Given the description of an element on the screen output the (x, y) to click on. 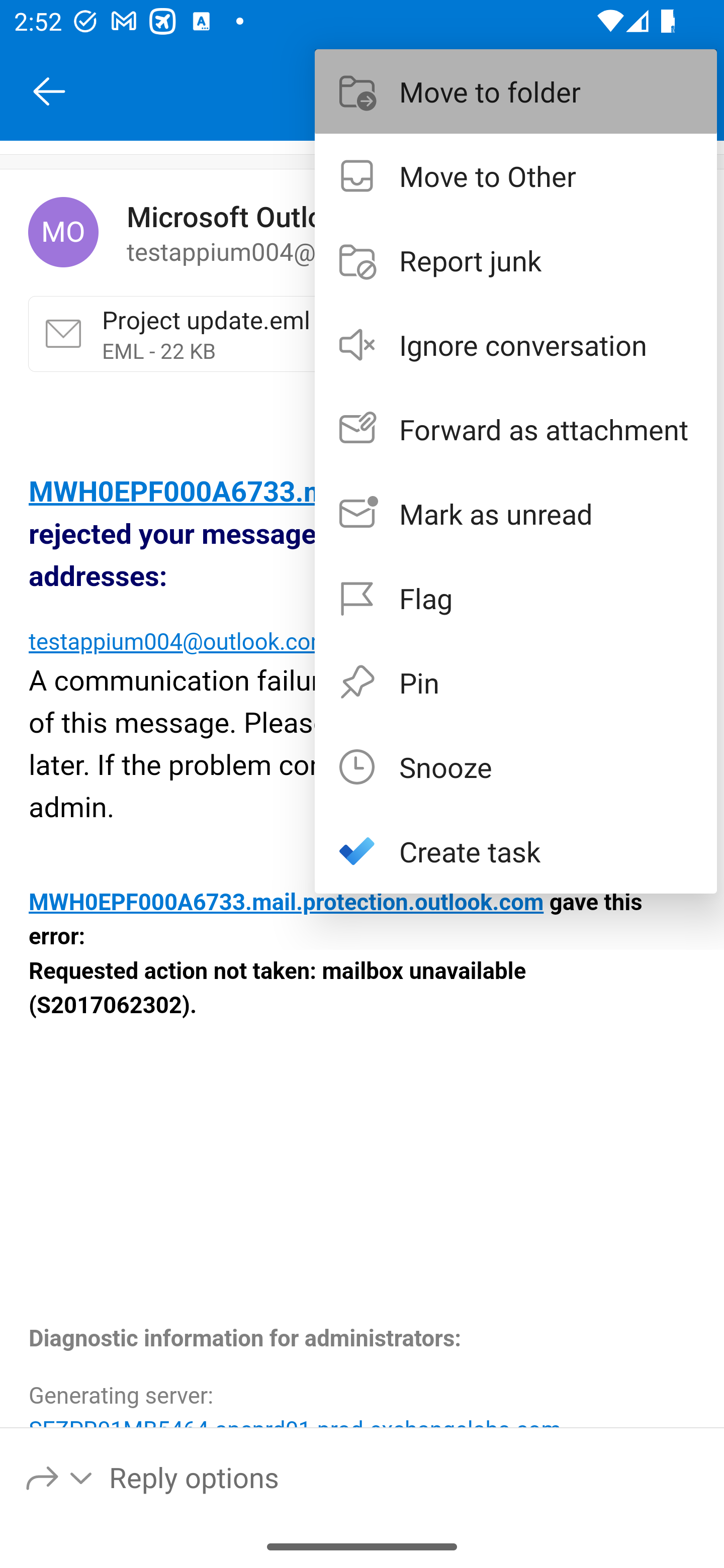
Move to folder (515, 90)
Move to Other (515, 175)
Report junk (515, 259)
Ignore conversation (515, 344)
Forward as attachment (515, 429)
Mark as unread (515, 513)
Flag (515, 597)
Pin (515, 681)
Snooze (515, 766)
Create task (515, 851)
